Given the description of an element on the screen output the (x, y) to click on. 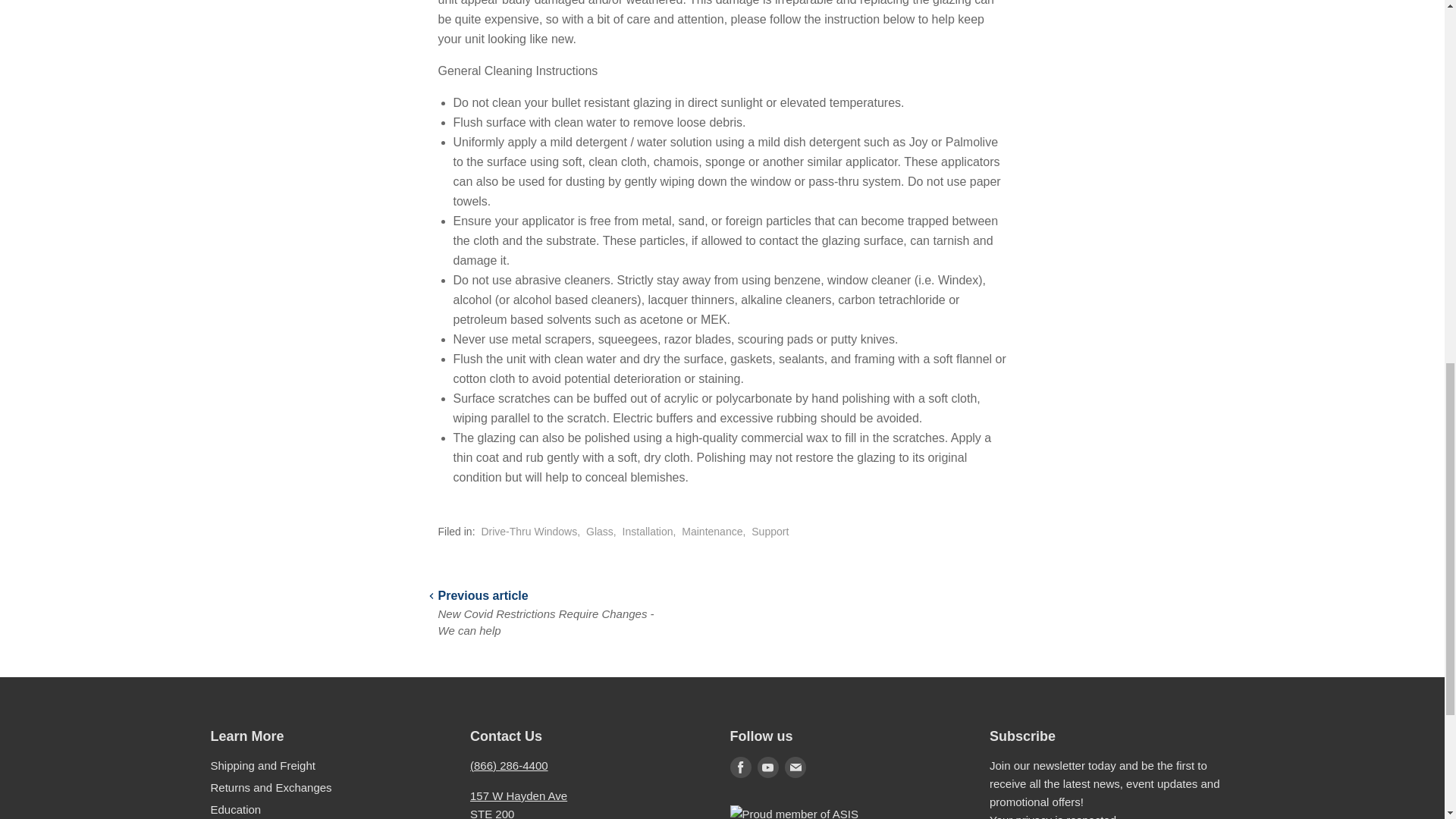
Show articles tagged Maintenance (711, 531)
Email (794, 767)
Show articles tagged Support (770, 531)
Show articles tagged Glass (599, 531)
Facebook (740, 767)
Show articles tagged Drive-Thru Windows (528, 531)
Show articles tagged Installation (647, 531)
Privacy Policy (1053, 816)
Youtube (767, 767)
